Given the description of an element on the screen output the (x, y) to click on. 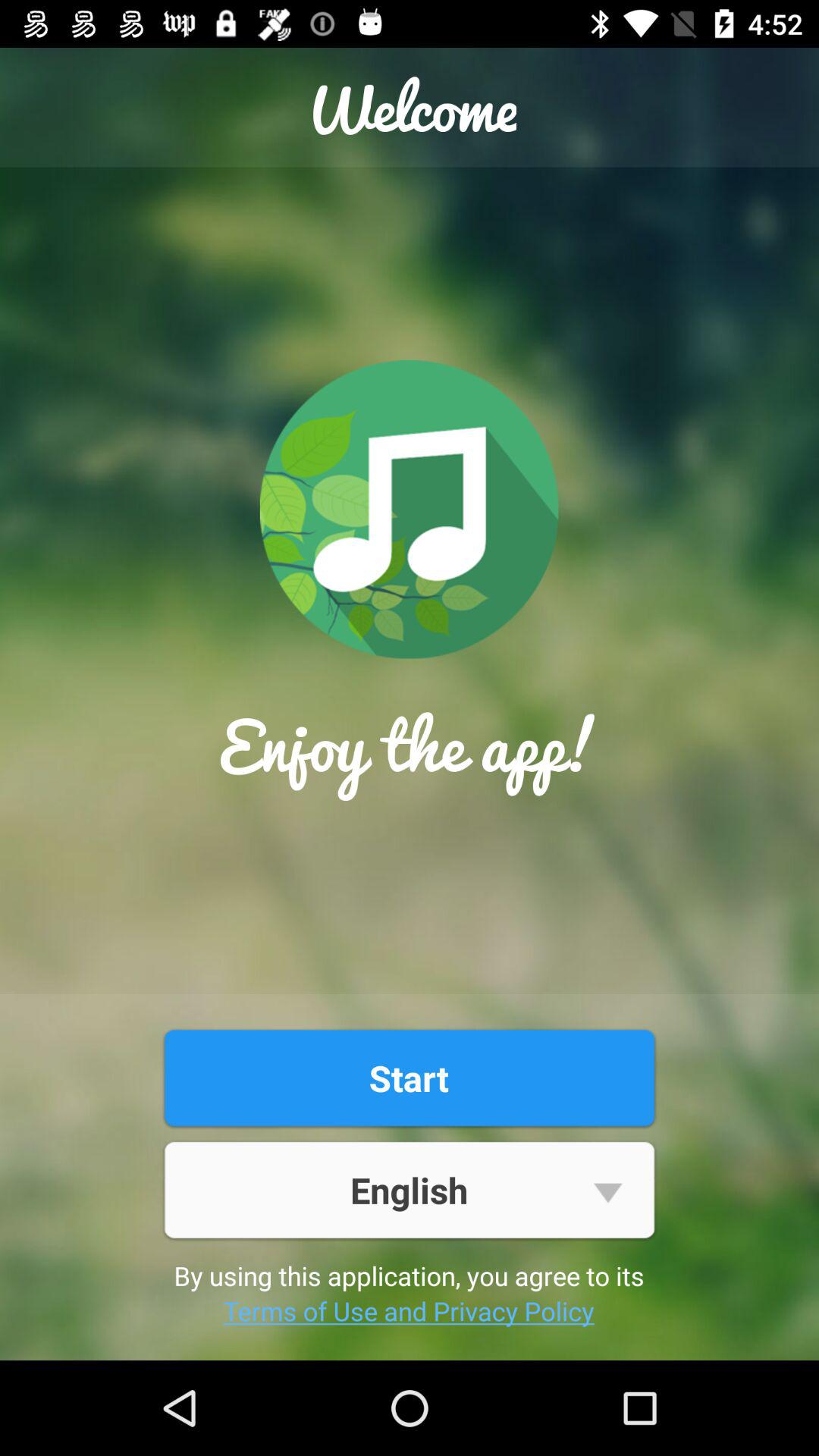
tap item below the start button (409, 1190)
